Given the description of an element on the screen output the (x, y) to click on. 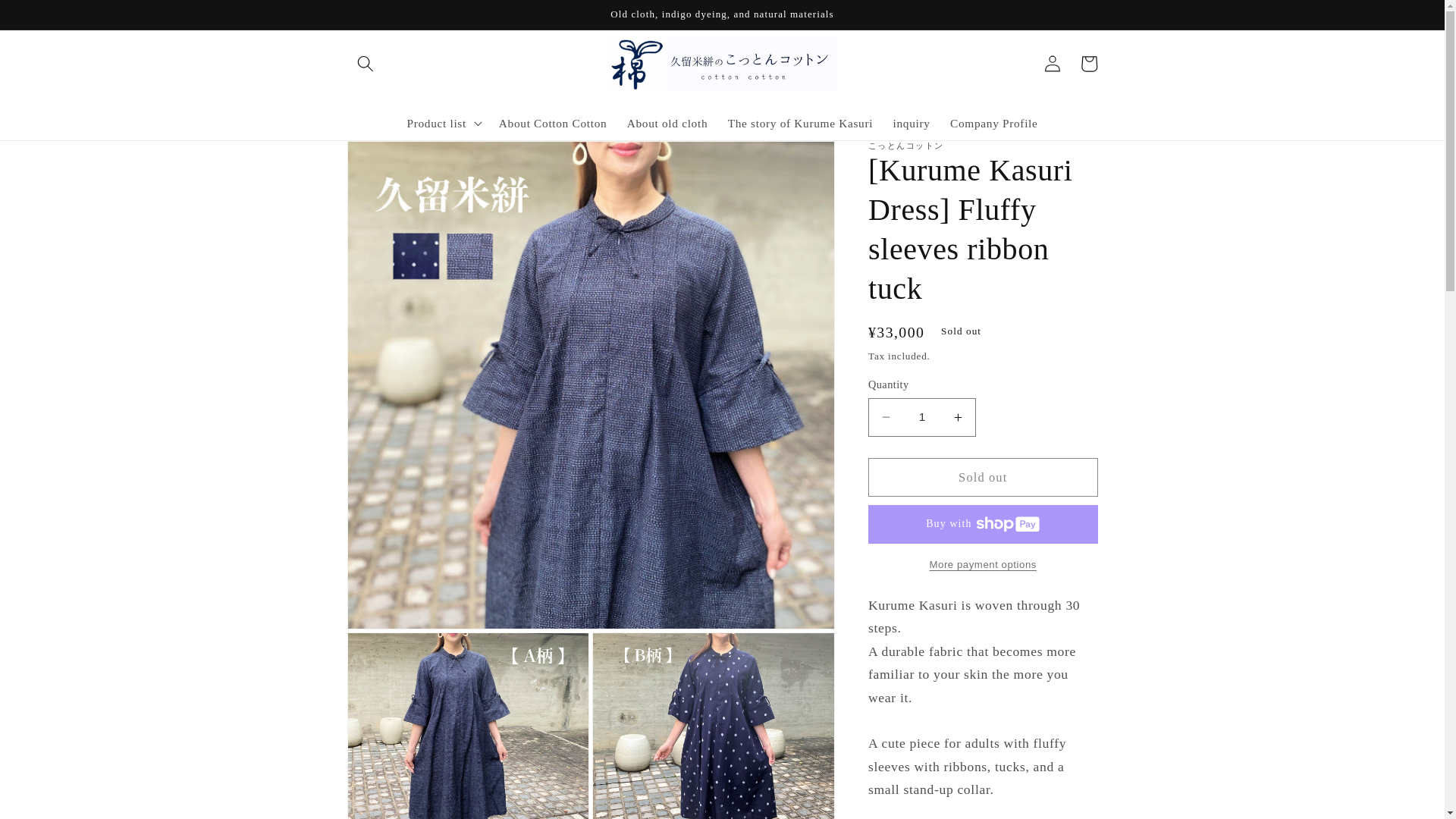
1 (921, 417)
Skip to content (50, 19)
